Given the description of an element on the screen output the (x, y) to click on. 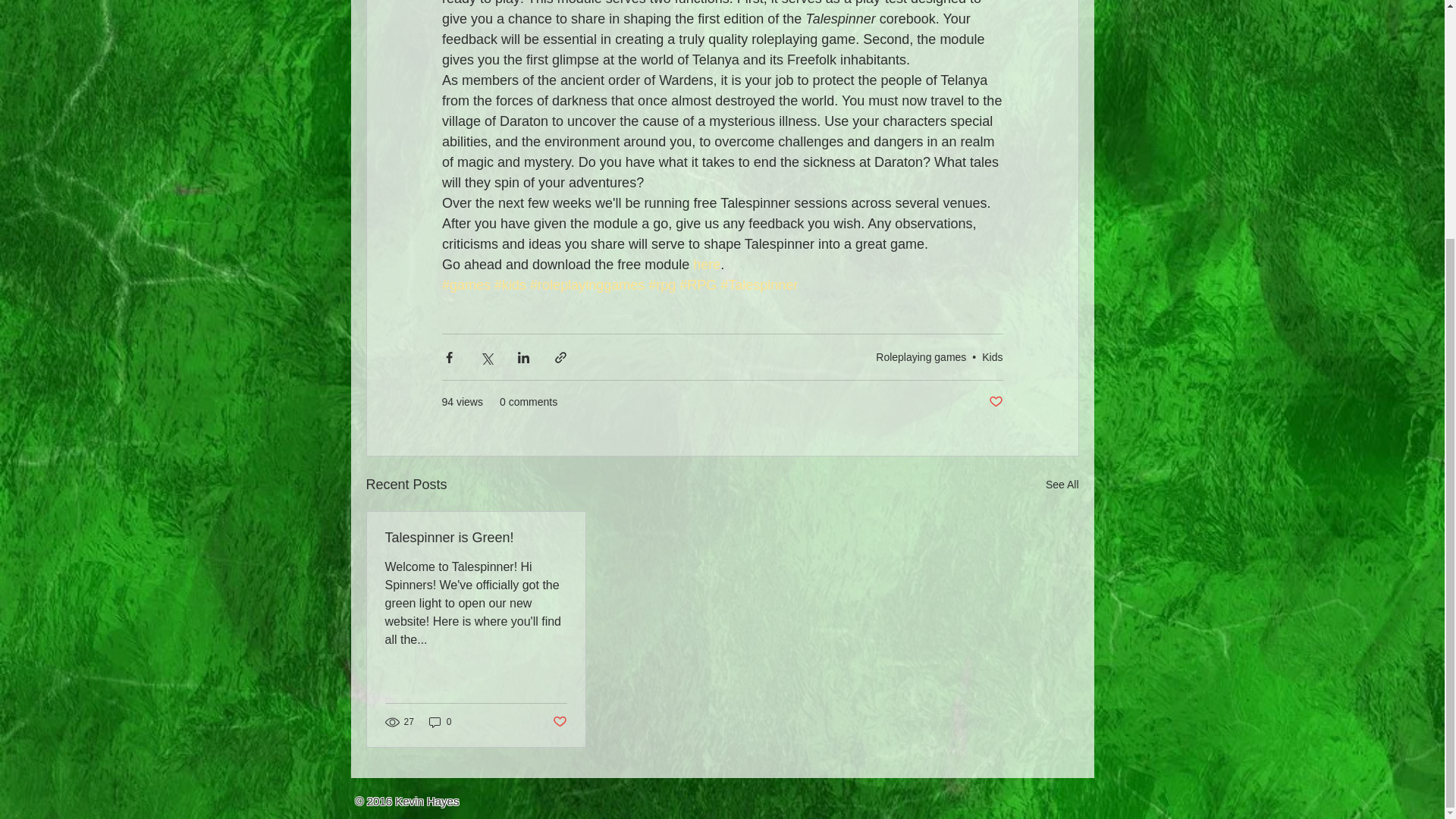
Post not marked as liked (558, 722)
Kids (992, 356)
here (706, 264)
Post not marked as liked (995, 401)
Roleplaying games (921, 356)
See All (1061, 485)
0 (440, 721)
Talespinner is Green! (476, 537)
